Given the description of an element on the screen output the (x, y) to click on. 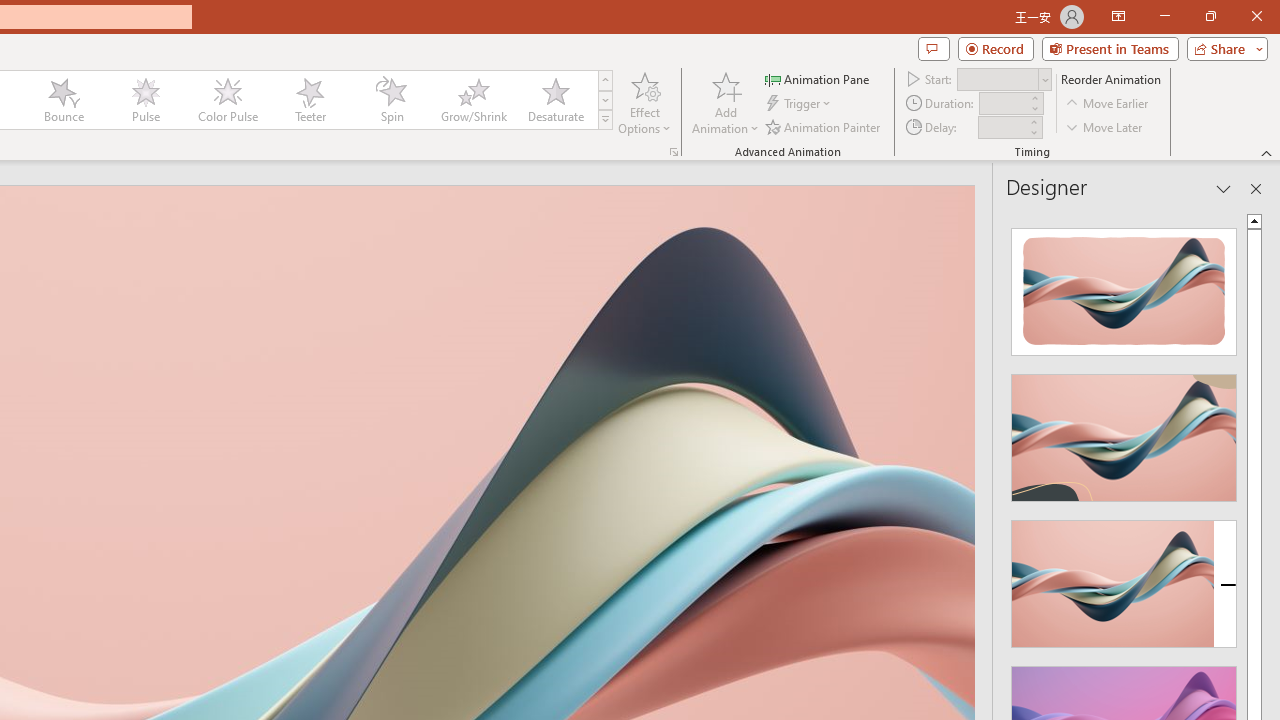
Trigger (799, 103)
Spin (391, 100)
Comments (933, 48)
Move Earlier (1107, 103)
Close (1256, 16)
Collapse the Ribbon (1267, 152)
Design Idea (1124, 577)
Line up (1254, 219)
Desaturate (555, 100)
Bounce (63, 100)
Minimize (1164, 16)
Animation Delay (1002, 127)
Restore Down (1210, 16)
Open (1044, 79)
Row Down (605, 100)
